Given the description of an element on the screen output the (x, y) to click on. 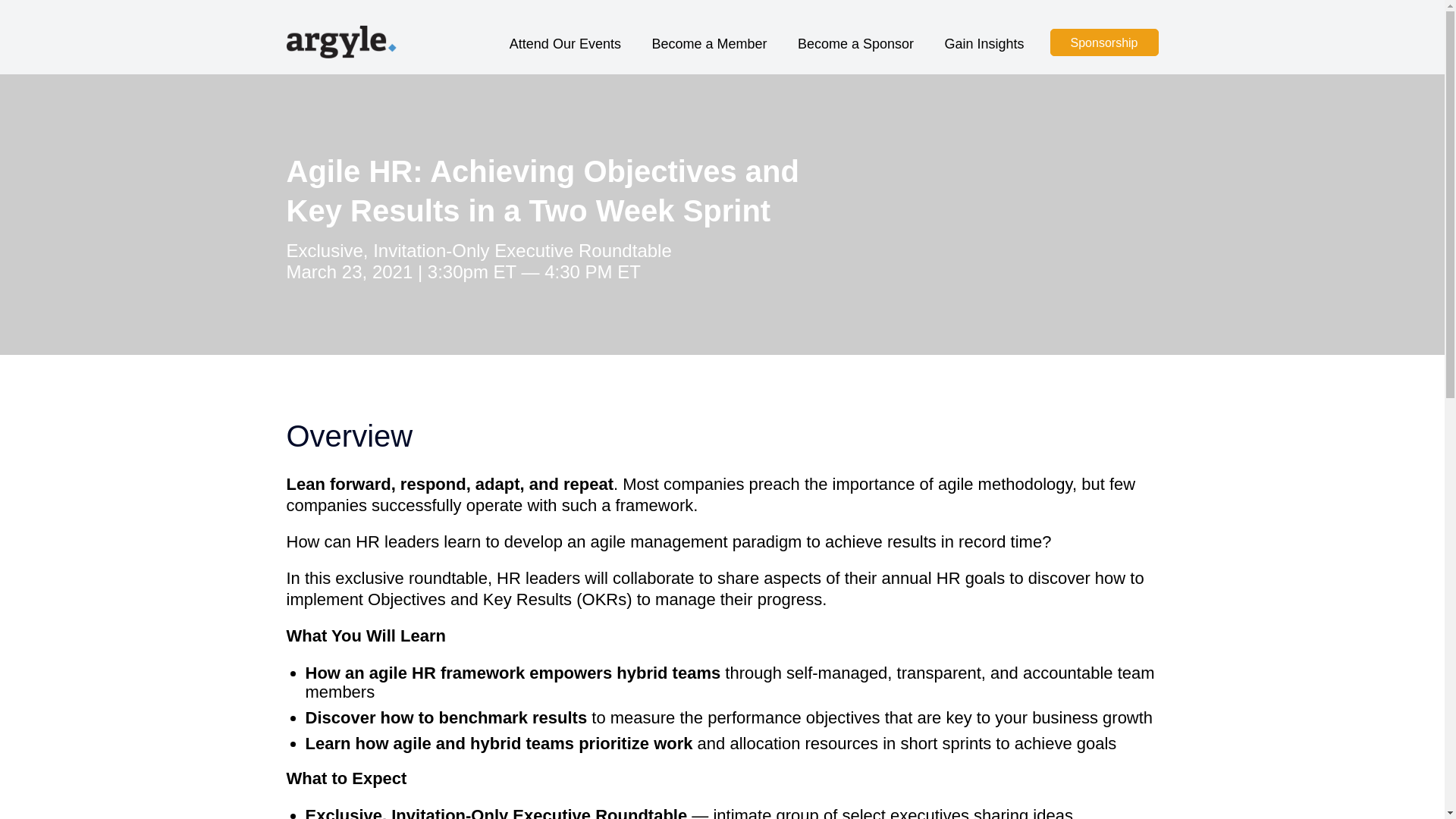
Become a Member (708, 55)
Sponsorship (1103, 42)
Become a Sponsor (855, 55)
Gain Insights (983, 55)
Attend Our Events (565, 55)
